Given the description of an element on the screen output the (x, y) to click on. 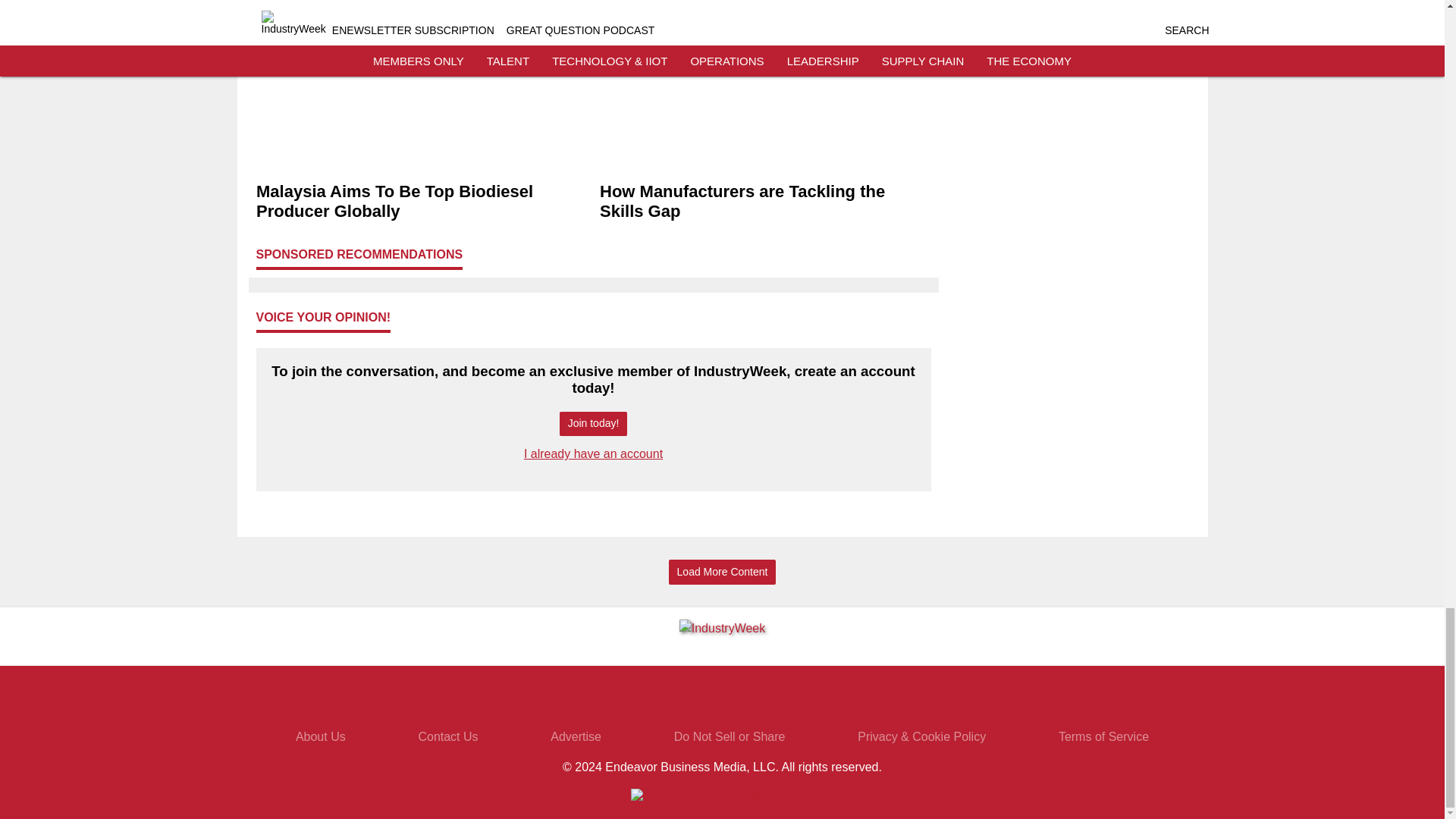
How Manufacturers are Tackling the Skills Gap (764, 201)
I already have an account (593, 453)
Join today! (593, 423)
Malaysia Aims To Be Top Biodiesel Producer Globally (422, 201)
